Given the description of an element on the screen output the (x, y) to click on. 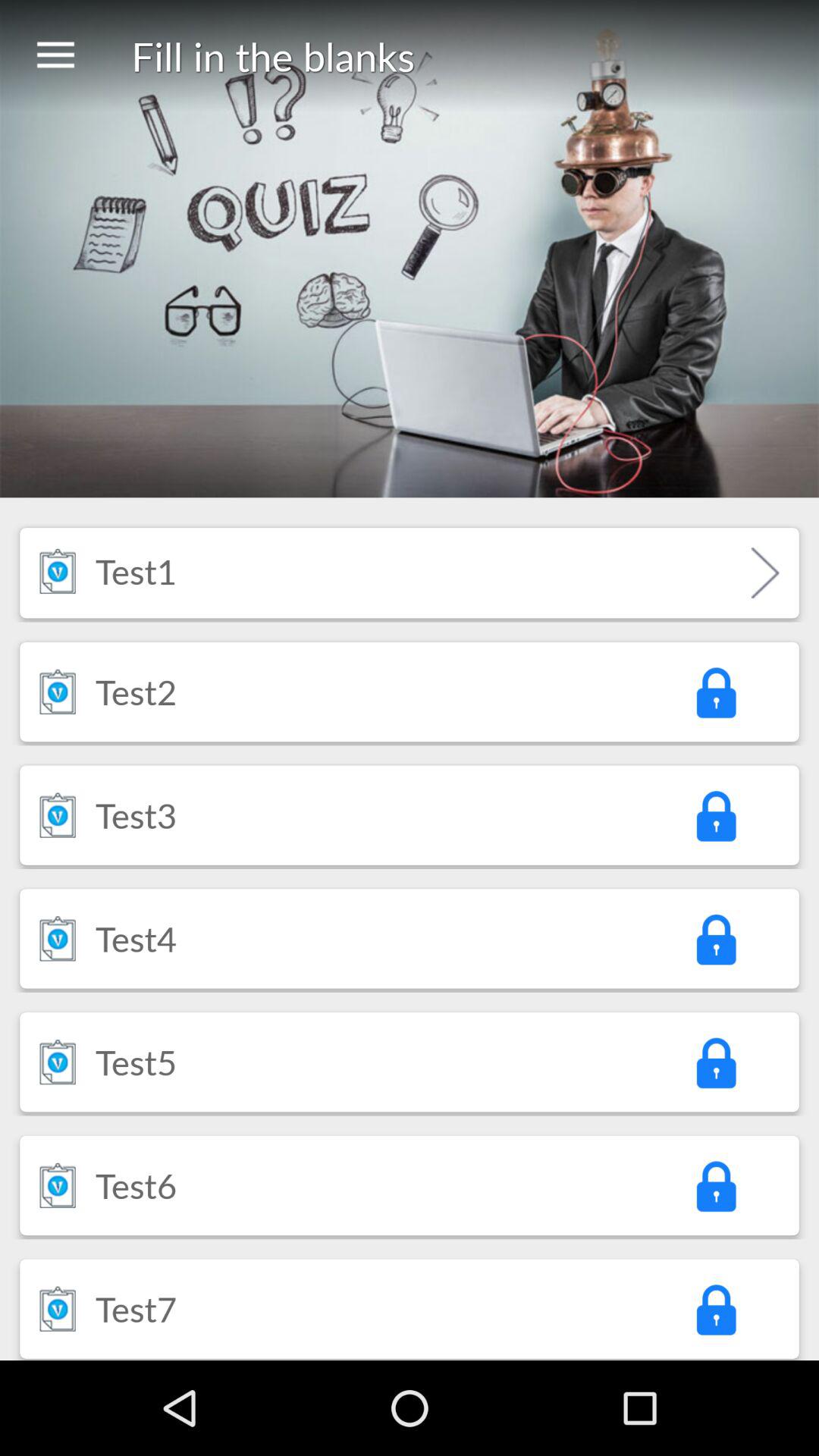
turn on the item next to test6 (715, 1185)
